Given the description of an element on the screen output the (x, y) to click on. 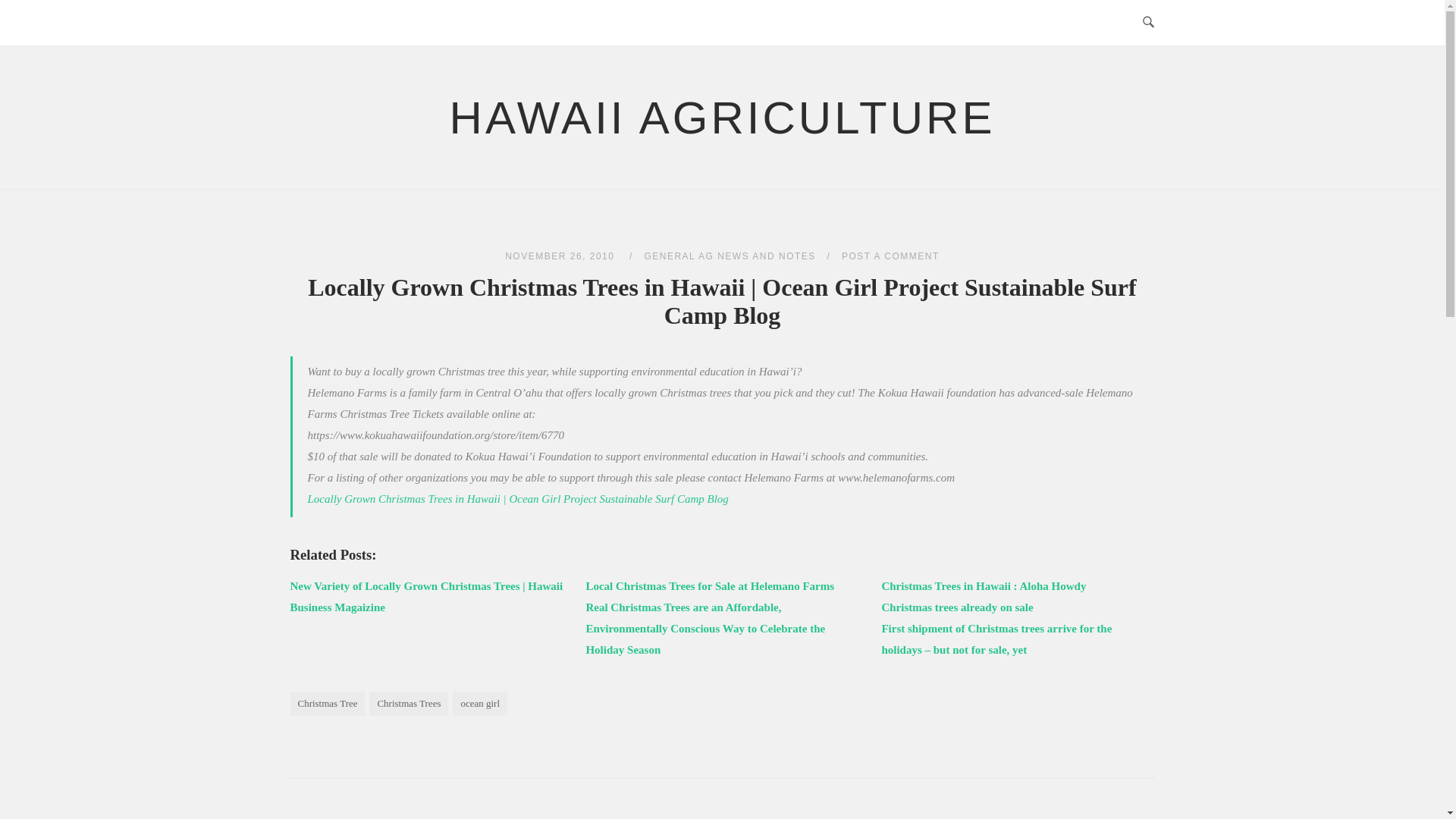
GENERAL AG NEWS AND NOTES (729, 255)
Christmas Trees in Hawaii : Aloha Howdy (983, 585)
HAWAII AGRICULTURE (722, 117)
Christmas Trees in Hawaii : Aloha Howdy (983, 585)
POST A COMMENT (890, 255)
Christmas Tree (327, 703)
Christmas Trees (408, 703)
Christmas trees already on sale (956, 607)
